Given the description of an element on the screen output the (x, y) to click on. 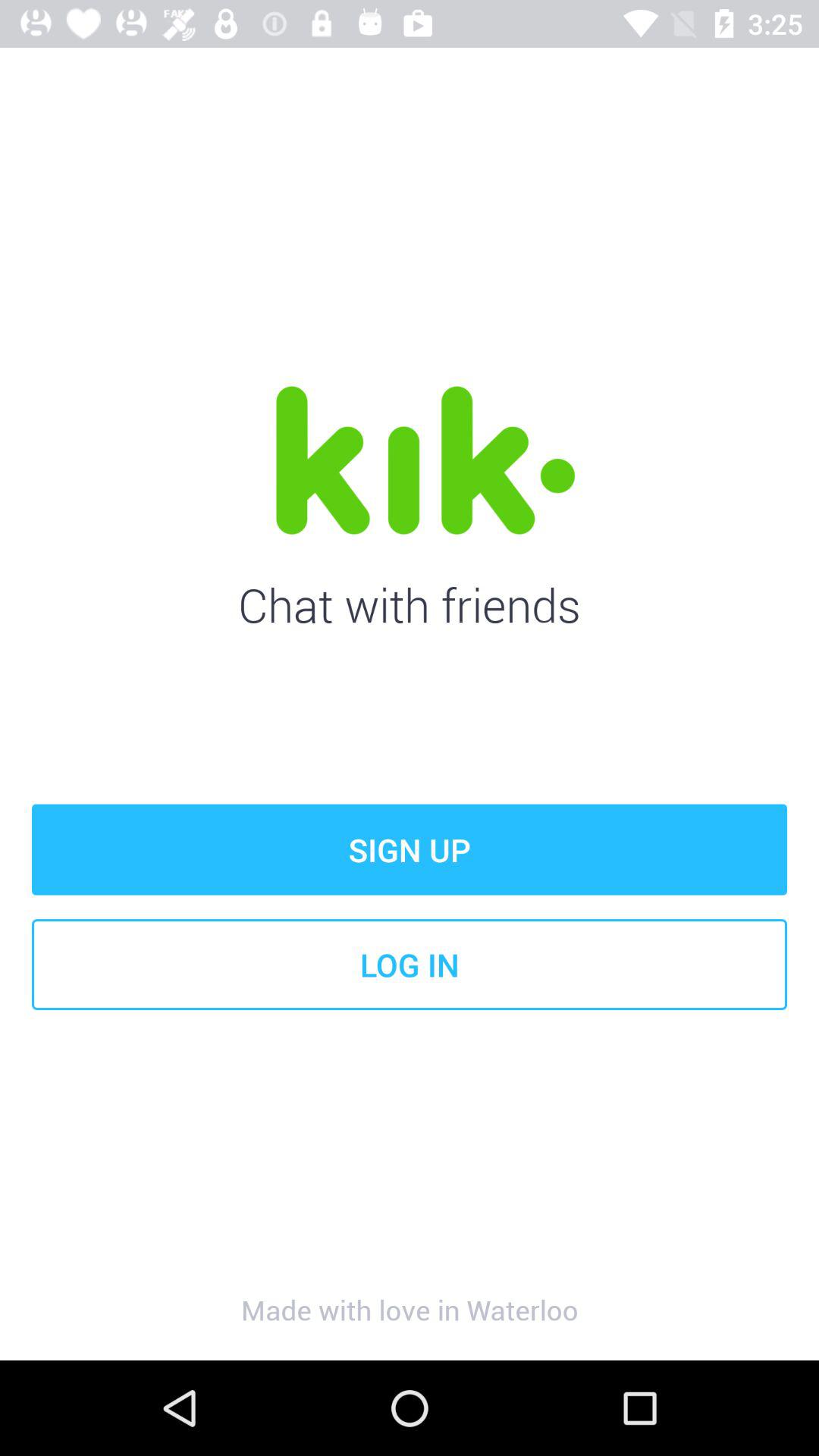
swipe until log in (409, 964)
